Given the description of an element on the screen output the (x, y) to click on. 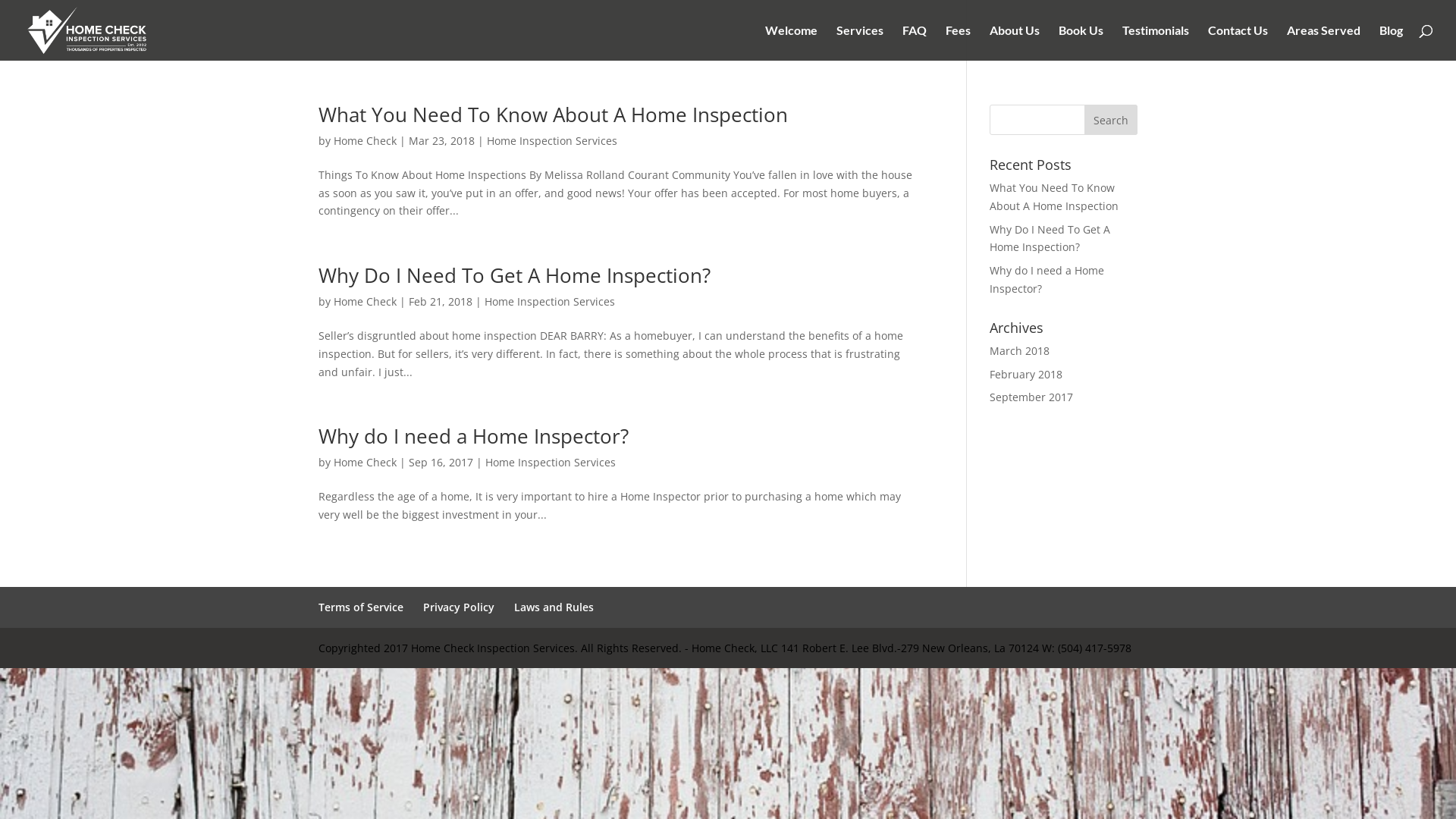
Areas Served Element type: text (1323, 42)
Contact Us Element type: text (1237, 42)
Book Us Element type: text (1080, 42)
Blog Element type: text (1390, 42)
Why Do I Need To Get A Home Inspection? Element type: text (1049, 238)
Welcome Element type: text (791, 42)
Home Check Element type: text (364, 301)
Home Inspection Services Element type: text (549, 301)
Testimonials Element type: text (1155, 42)
Services Element type: text (859, 42)
Why Do I Need To Get A Home Inspection? Element type: text (514, 274)
March 2018 Element type: text (1019, 350)
Home Check Element type: text (364, 462)
What You Need To Know About A Home Inspection Element type: text (552, 114)
Laws and Rules Element type: text (553, 606)
September 2017 Element type: text (1031, 396)
FAQ Element type: text (914, 42)
Home Inspection Services Element type: text (550, 462)
Terms of Service Element type: text (360, 606)
Privacy Policy Element type: text (458, 606)
Home Inspection Services Element type: text (551, 140)
Fees Element type: text (957, 42)
Search Element type: text (1110, 119)
About Us Element type: text (1014, 42)
February 2018 Element type: text (1025, 374)
Why do I need a Home Inspector? Element type: text (473, 435)
What You Need To Know About A Home Inspection Element type: text (1053, 196)
Why do I need a Home Inspector? Element type: text (1046, 279)
Home Check Element type: text (364, 140)
